Given the description of an element on the screen output the (x, y) to click on. 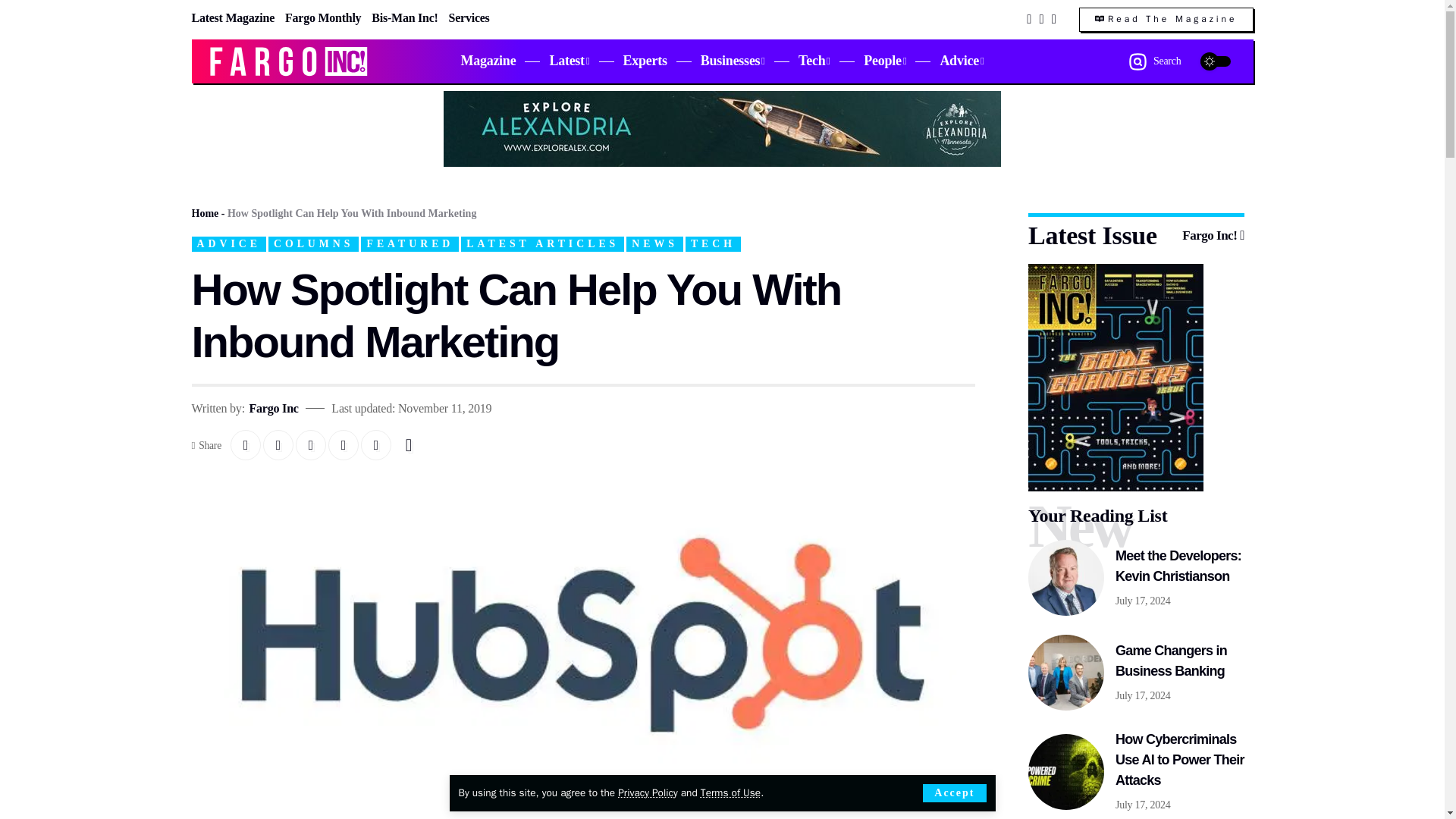
Tech (814, 61)
Latest (569, 61)
Magazine (487, 61)
Privacy Policy (647, 792)
Read The Magazine (1165, 19)
Accept (954, 792)
Businesses (732, 61)
Experts (645, 61)
Latest Magazine (232, 17)
Terms of Use (730, 792)
Services (468, 17)
Fargo Monthly (323, 17)
Bis-Man Inc! (404, 17)
